Given the description of an element on the screen output the (x, y) to click on. 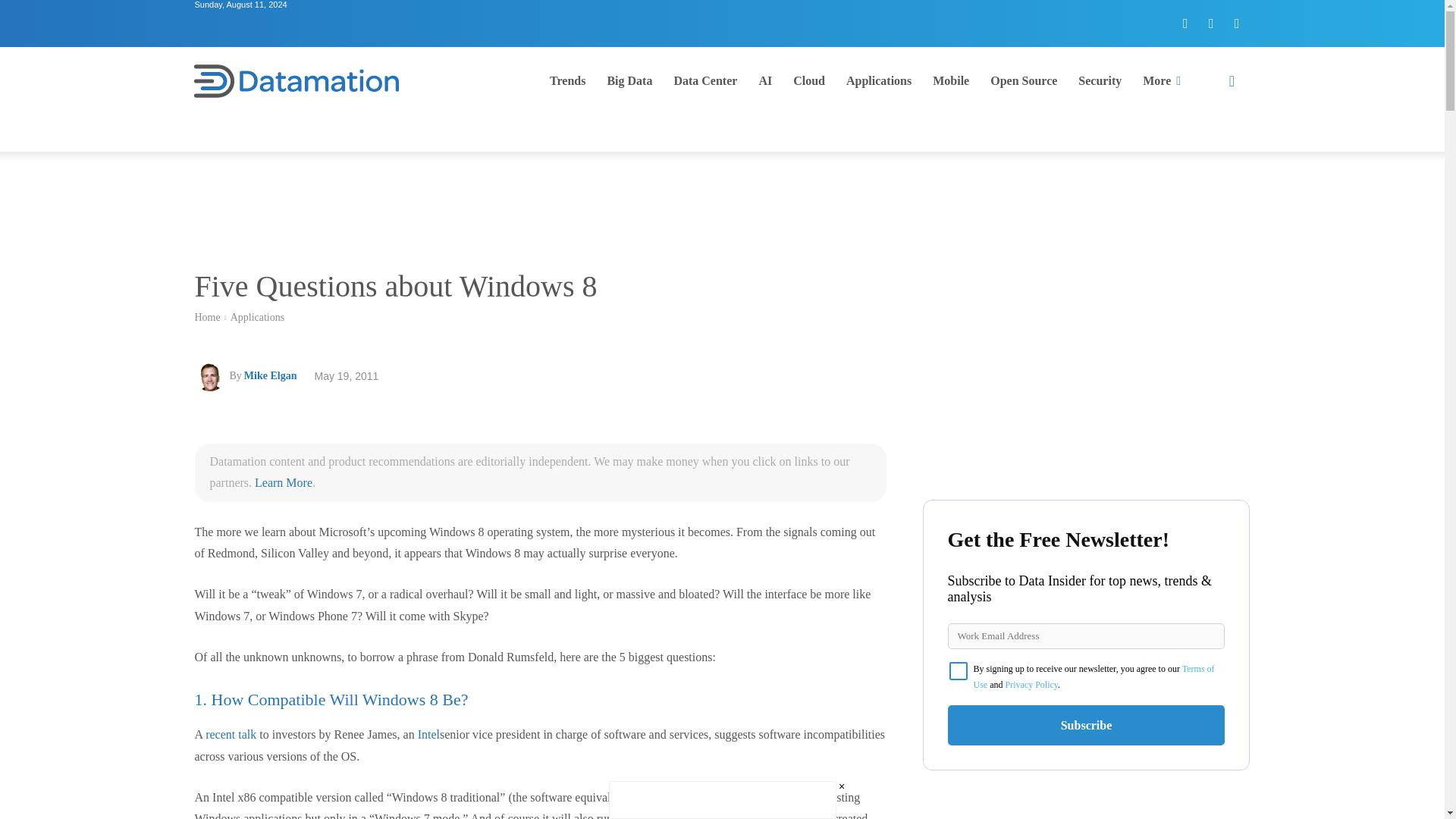
AI (765, 81)
Home (206, 317)
Intel (428, 734)
on (958, 670)
Cloud (809, 81)
Data Center (705, 81)
Mike Elgan (270, 375)
Youtube (1236, 23)
Learn More (283, 481)
Open Source (1023, 81)
